Given the description of an element on the screen output the (x, y) to click on. 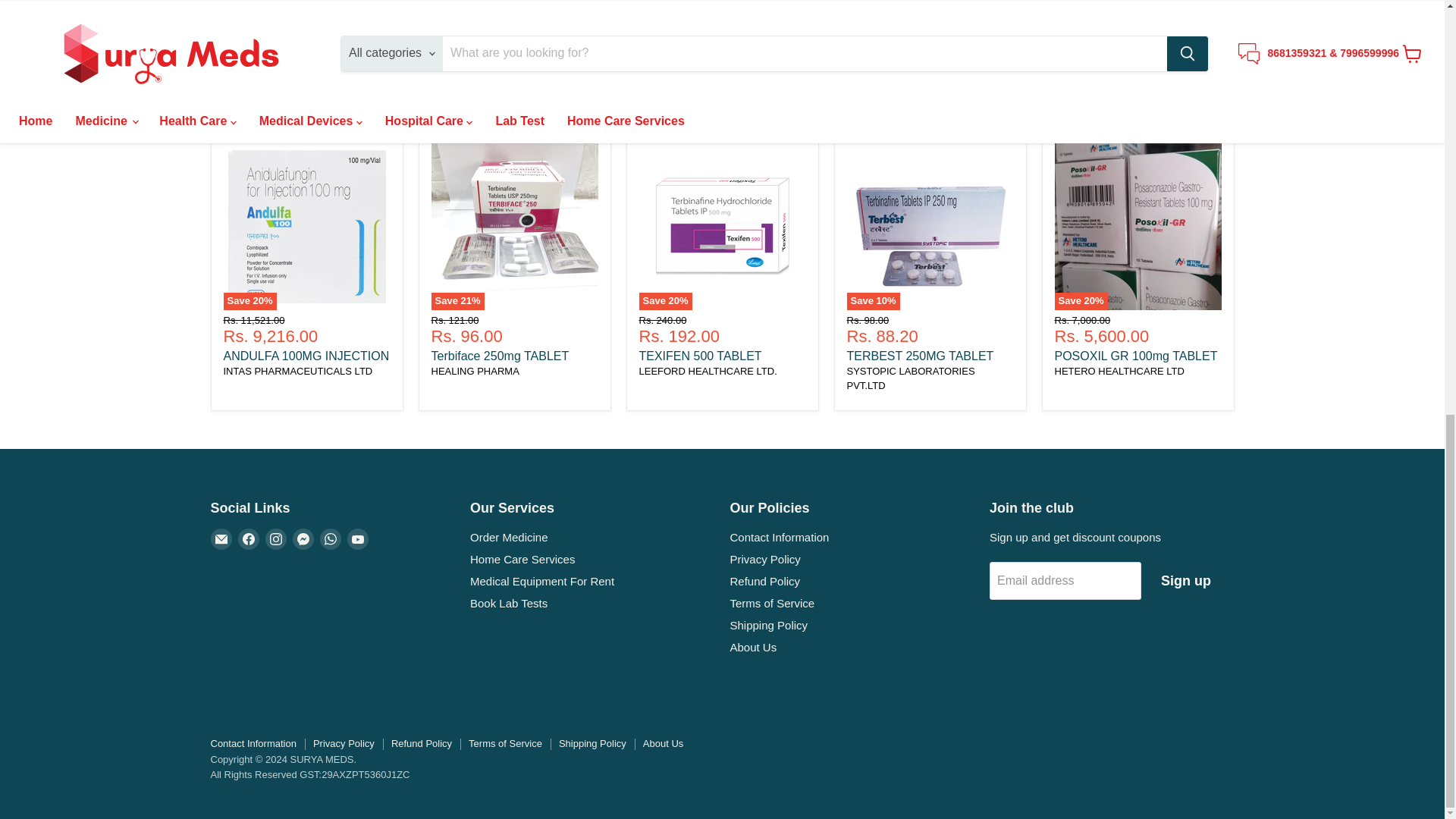
INTAS PHARMACEUTICALS LTD (297, 370)
